Given the description of an element on the screen output the (x, y) to click on. 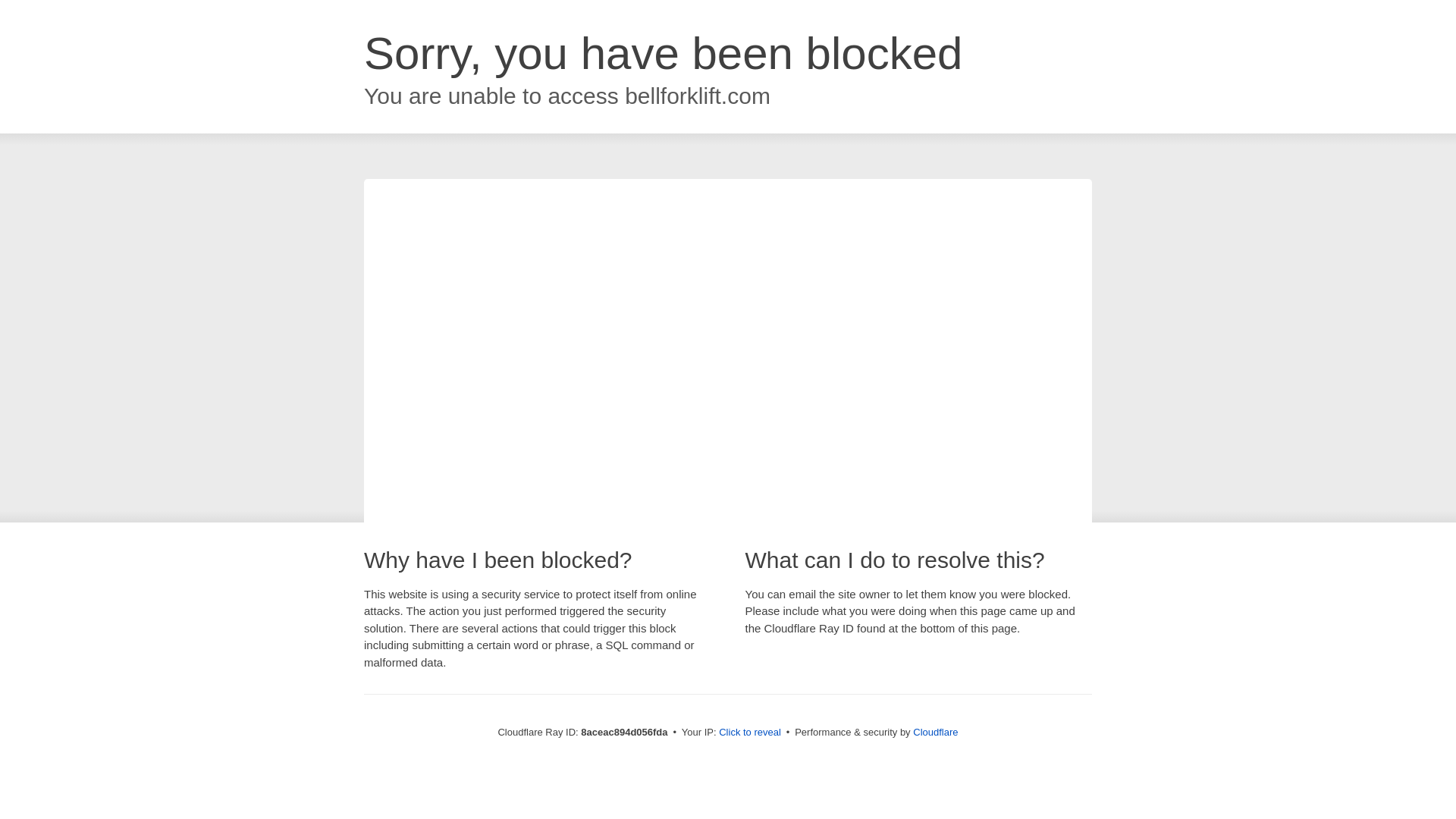
Click to reveal (749, 732)
Cloudflare (935, 731)
